Given the description of an element on the screen output the (x, y) to click on. 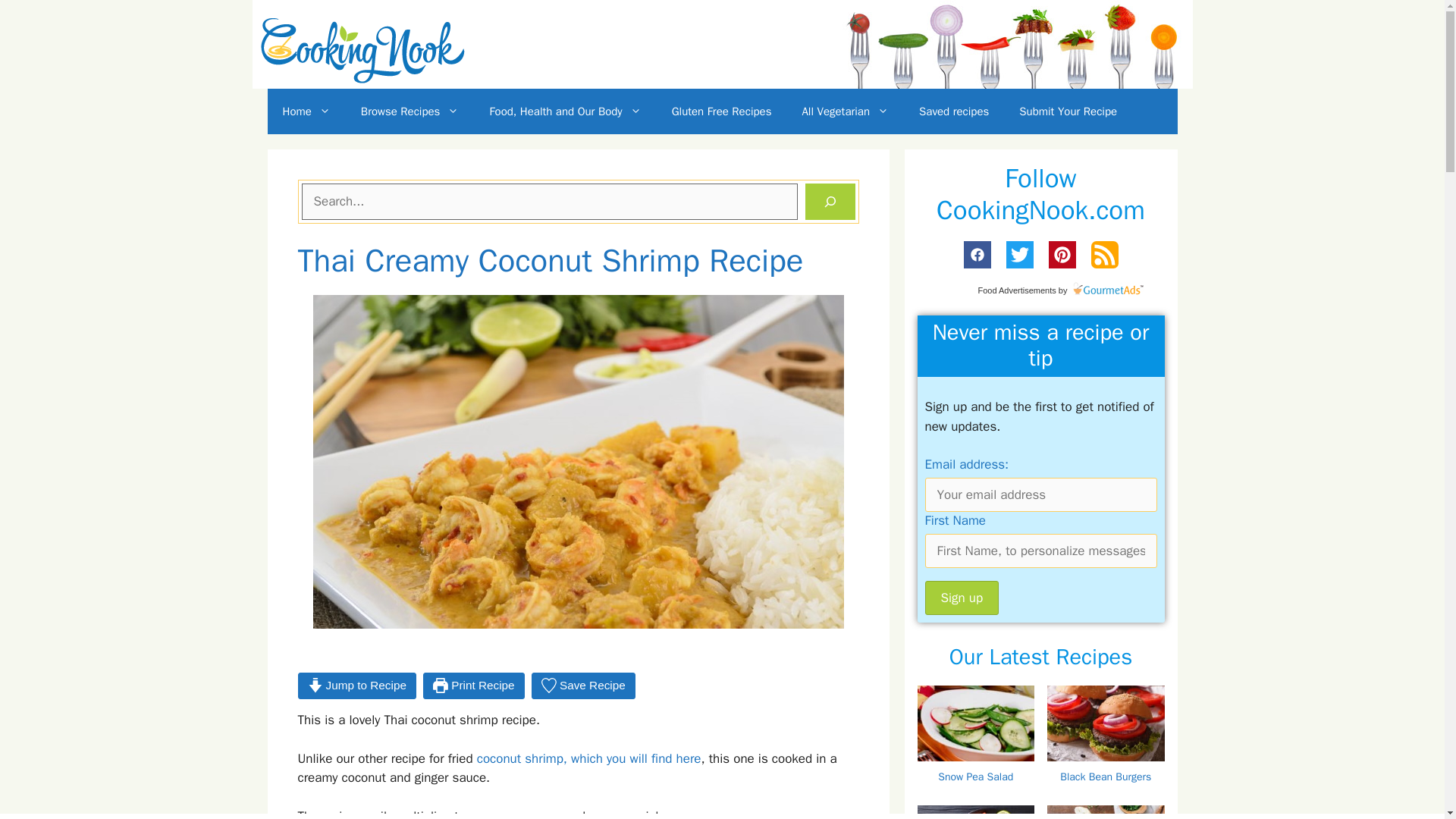
Snow Pea Salad (978, 772)
Health (565, 111)
Home (305, 111)
Browse Recipes (410, 111)
Sign up (961, 597)
Black Bean Burgers (1107, 756)
Food, Health and Our Body (565, 111)
Food Advertisements (1015, 289)
All Vegetarian (845, 111)
